Given the description of an element on the screen output the (x, y) to click on. 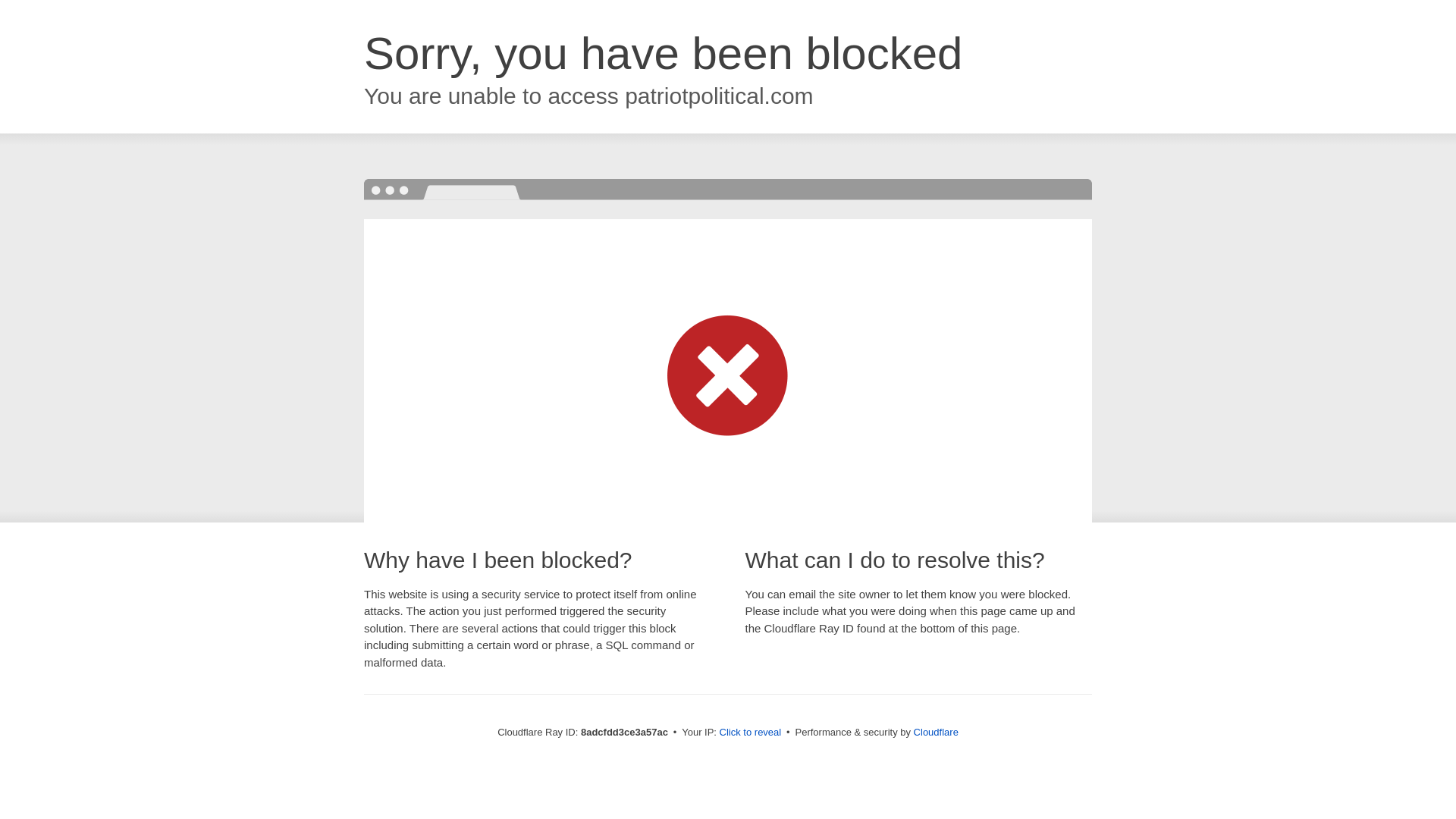
Cloudflare (936, 731)
Click to reveal (750, 732)
